Given the description of an element on the screen output the (x, y) to click on. 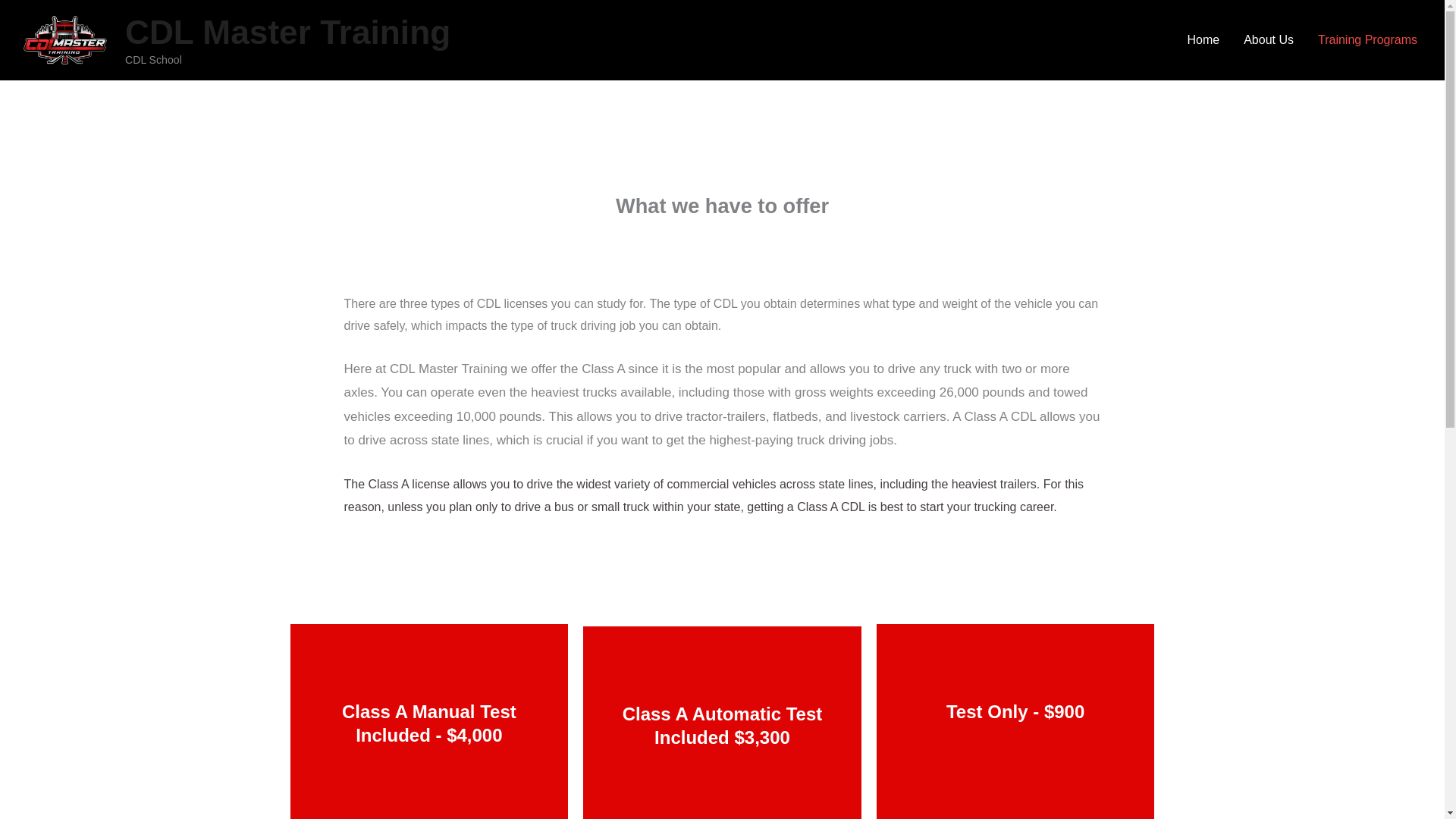
About Us (1268, 39)
CDL Master Training (287, 31)
Training Programs (1367, 39)
Home (16, 7)
Home (1202, 39)
